Given the description of an element on the screen output the (x, y) to click on. 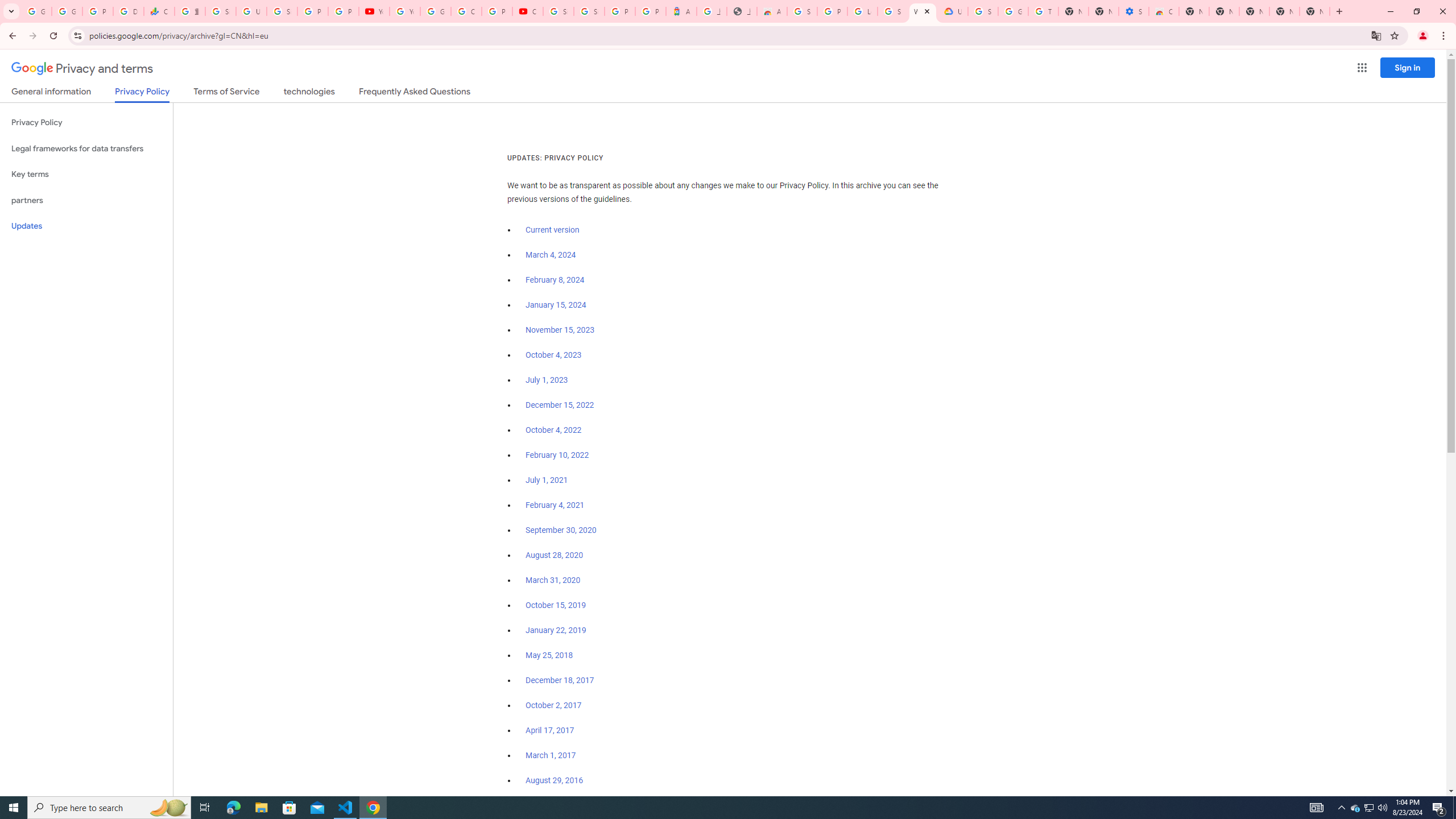
October 4, 2023 (553, 355)
April 17, 2017 (550, 729)
Chrome Web Store - Accessibility extensions (1163, 11)
Restore (1416, 11)
October 15, 2019 (555, 605)
Awesome Screen Recorder & Screenshot - Chrome Web Store (771, 11)
February 4, 2021 (555, 505)
YouTube (404, 11)
March 1, 2017 (550, 755)
Sign in - Google Accounts (892, 11)
Back (10, 35)
Current version (552, 230)
Forward (32, 35)
